Given the description of an element on the screen output the (x, y) to click on. 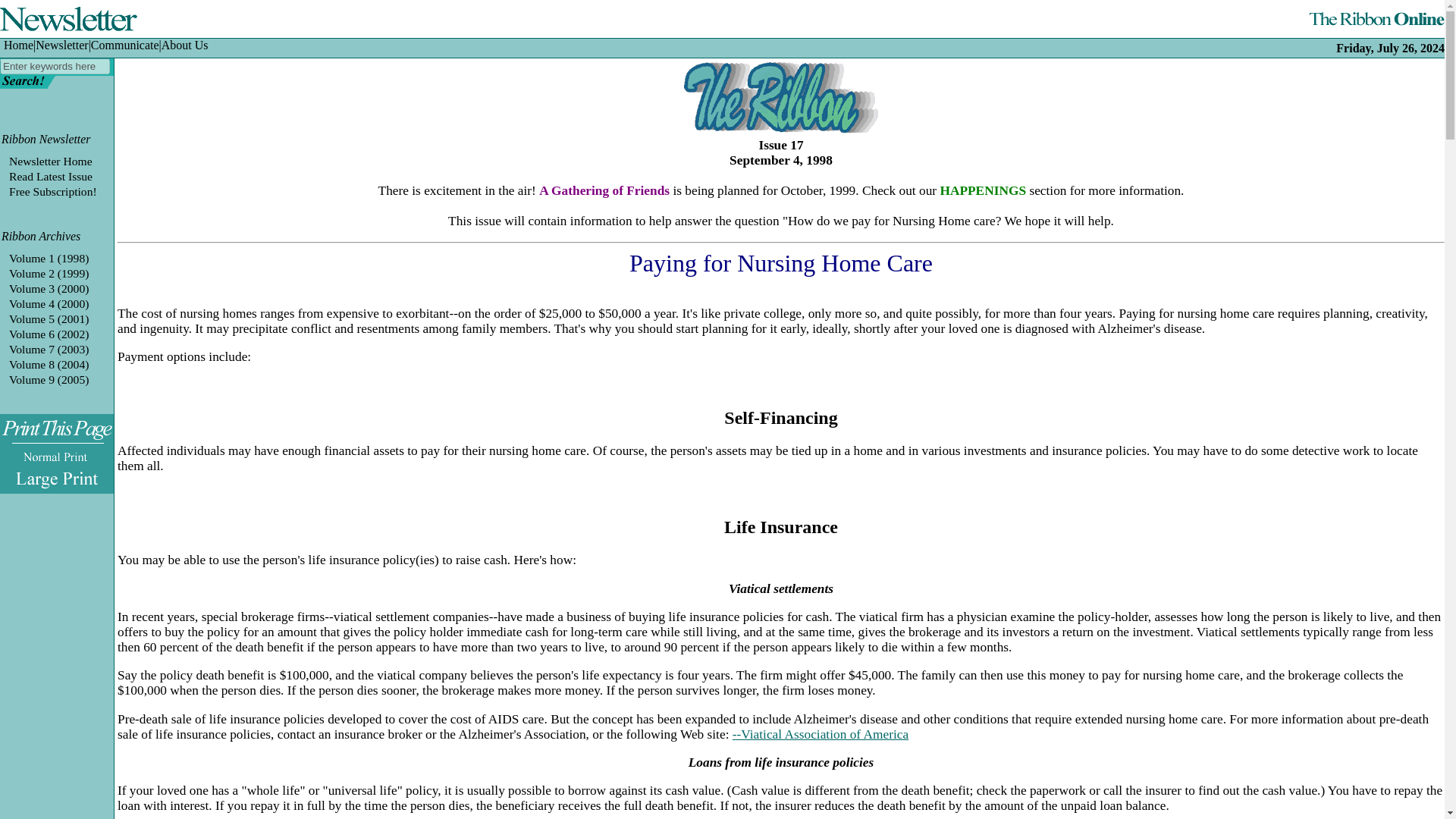
Newsletter Home (50, 160)
Free Subscription! (52, 191)
Enter keywords here (55, 66)
About Us (184, 44)
Get The Ribbon newsletter free by email. (52, 191)
The Ribbon newsletter front page (50, 160)
Read Latest Issue (50, 175)
Newsletter (60, 44)
Communicate (124, 44)
--Viatical Association of America (820, 734)
Home (18, 44)
Read the latest issue of The Ribbon (50, 175)
Ribbon Newsletter (45, 138)
Ribbon Archives (40, 236)
